Given the description of an element on the screen output the (x, y) to click on. 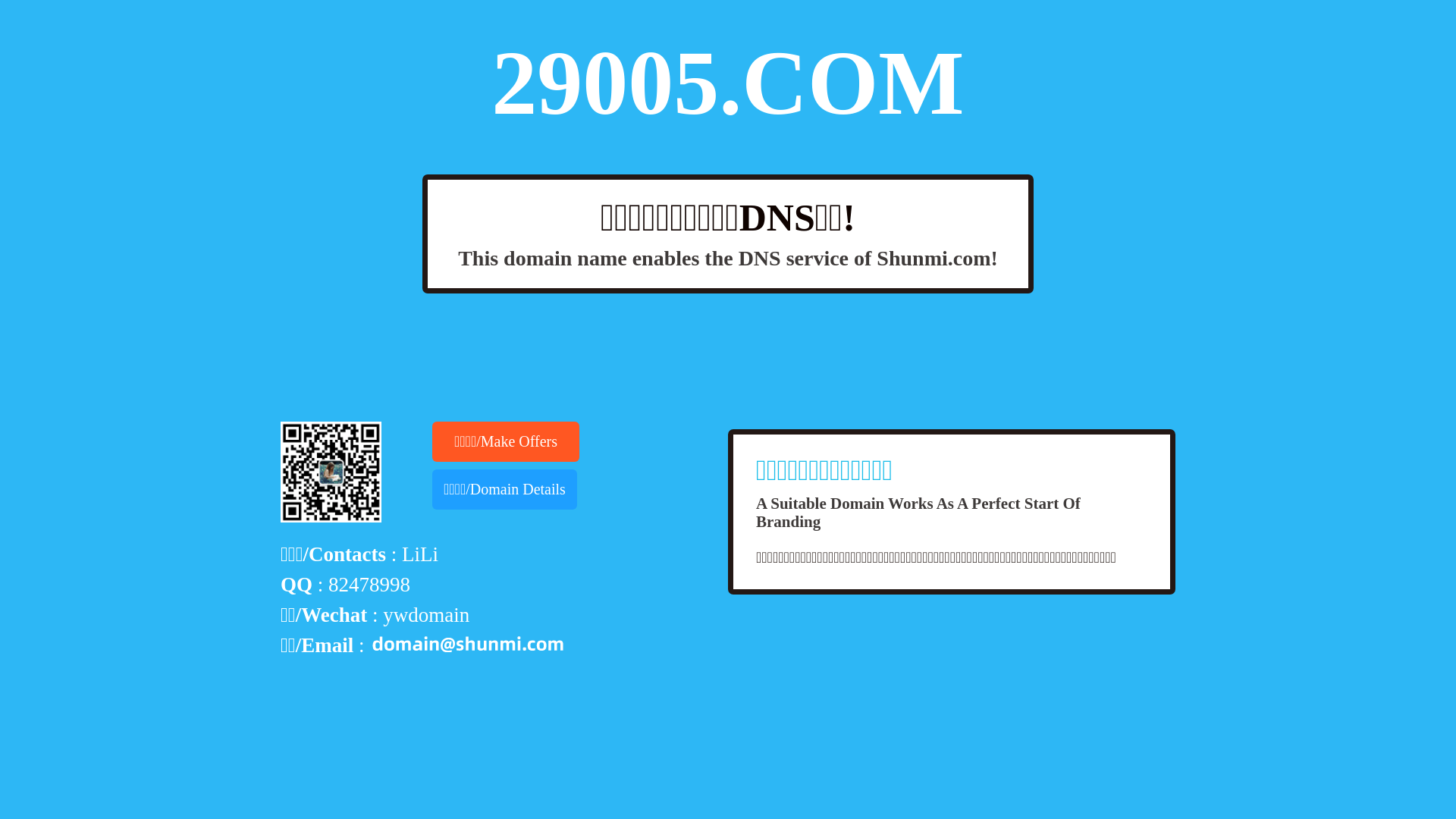
82478998 Element type: text (369, 584)
